Given the description of an element on the screen output the (x, y) to click on. 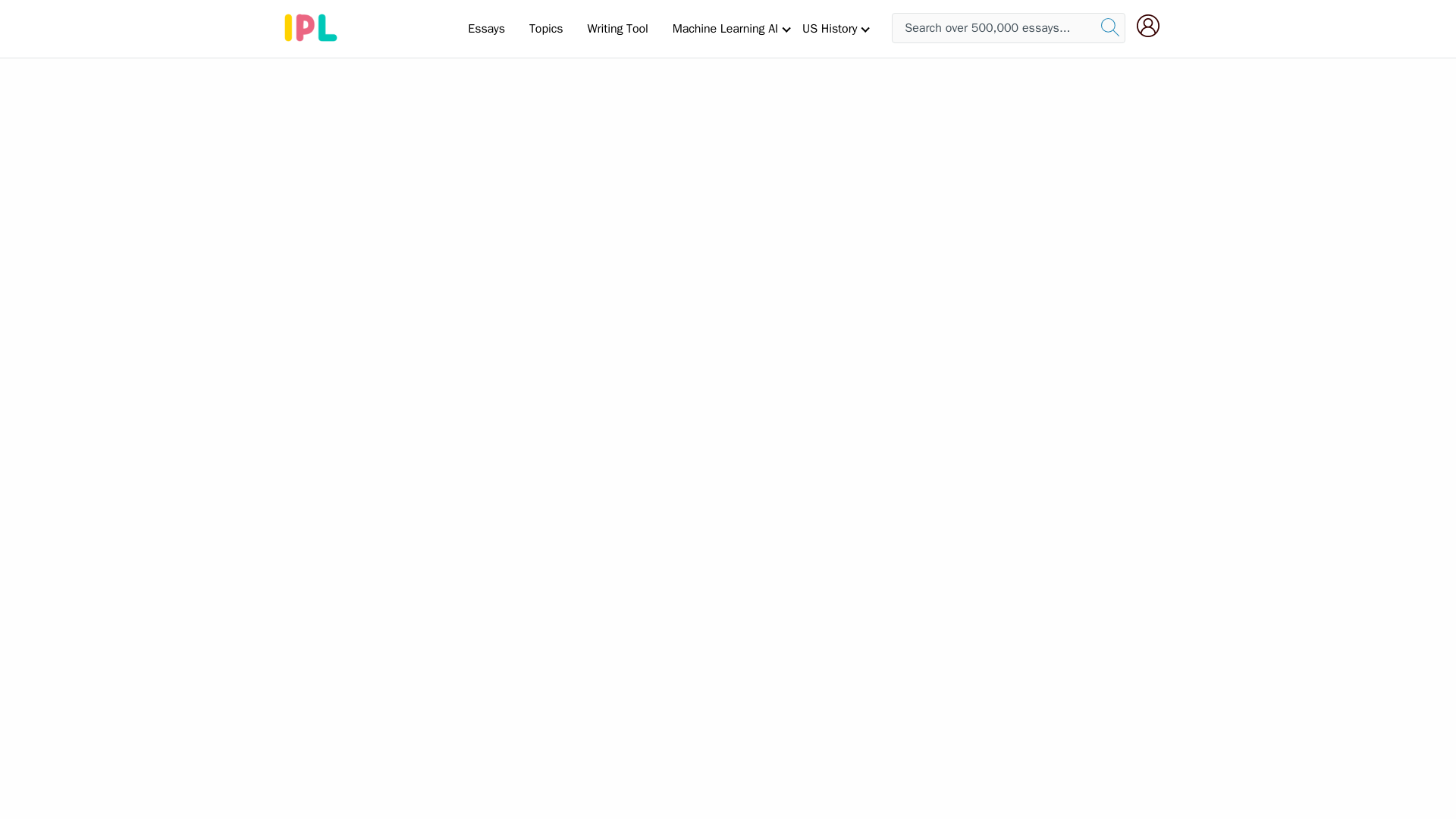
Writing Tool (617, 28)
Essays (485, 28)
US History (829, 28)
Topics (545, 28)
Machine Learning AI (725, 28)
